Given the description of an element on the screen output the (x, y) to click on. 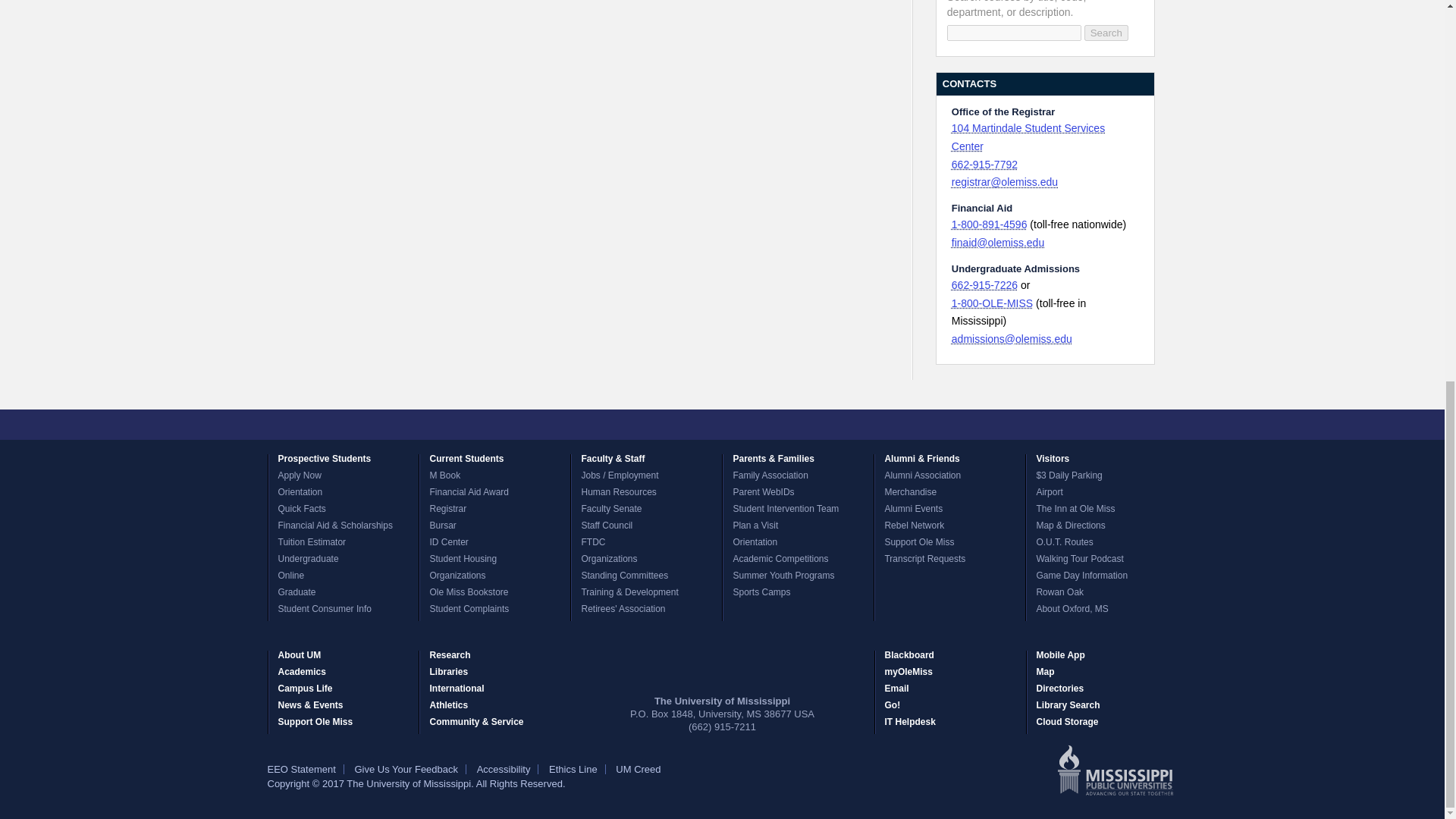
News Feed (818, 424)
Instagram (708, 424)
Facebook (627, 424)
Twitter (654, 424)
Pinterest (790, 424)
Search (1106, 32)
Youtube (763, 424)
Flickr (735, 424)
